Given the description of an element on the screen output the (x, y) to click on. 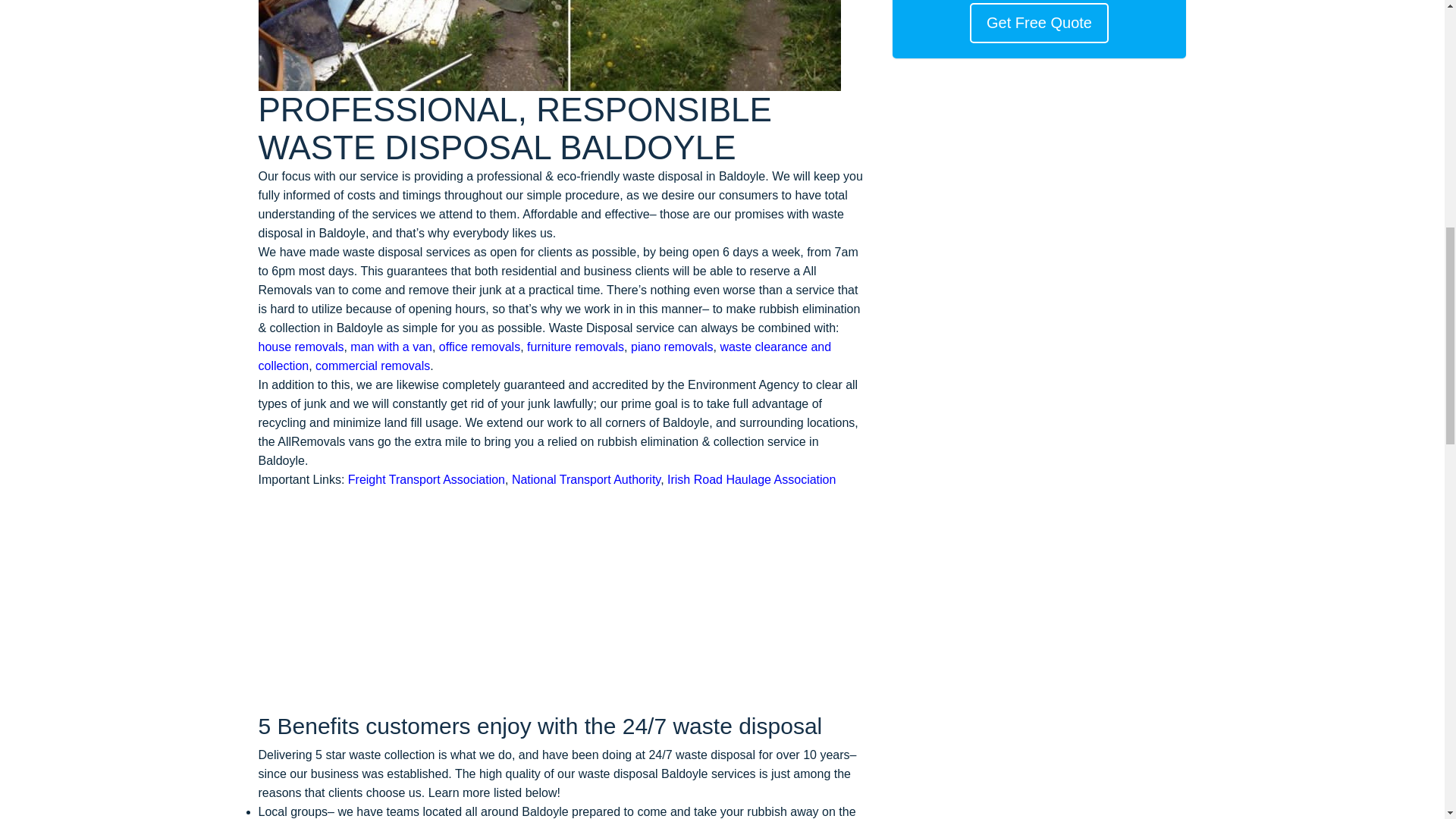
waste clearance and collection (544, 356)
National Transport Authority (586, 479)
piano removals (671, 346)
Freight Transport Association (426, 479)
Waste Disposal Baldoyle 3 (548, 45)
Get Free Quote (1038, 23)
house removals (300, 346)
Irish Road Haulage Association (750, 479)
furniture removals (575, 346)
man with a van (391, 346)
